Given the description of an element on the screen output the (x, y) to click on. 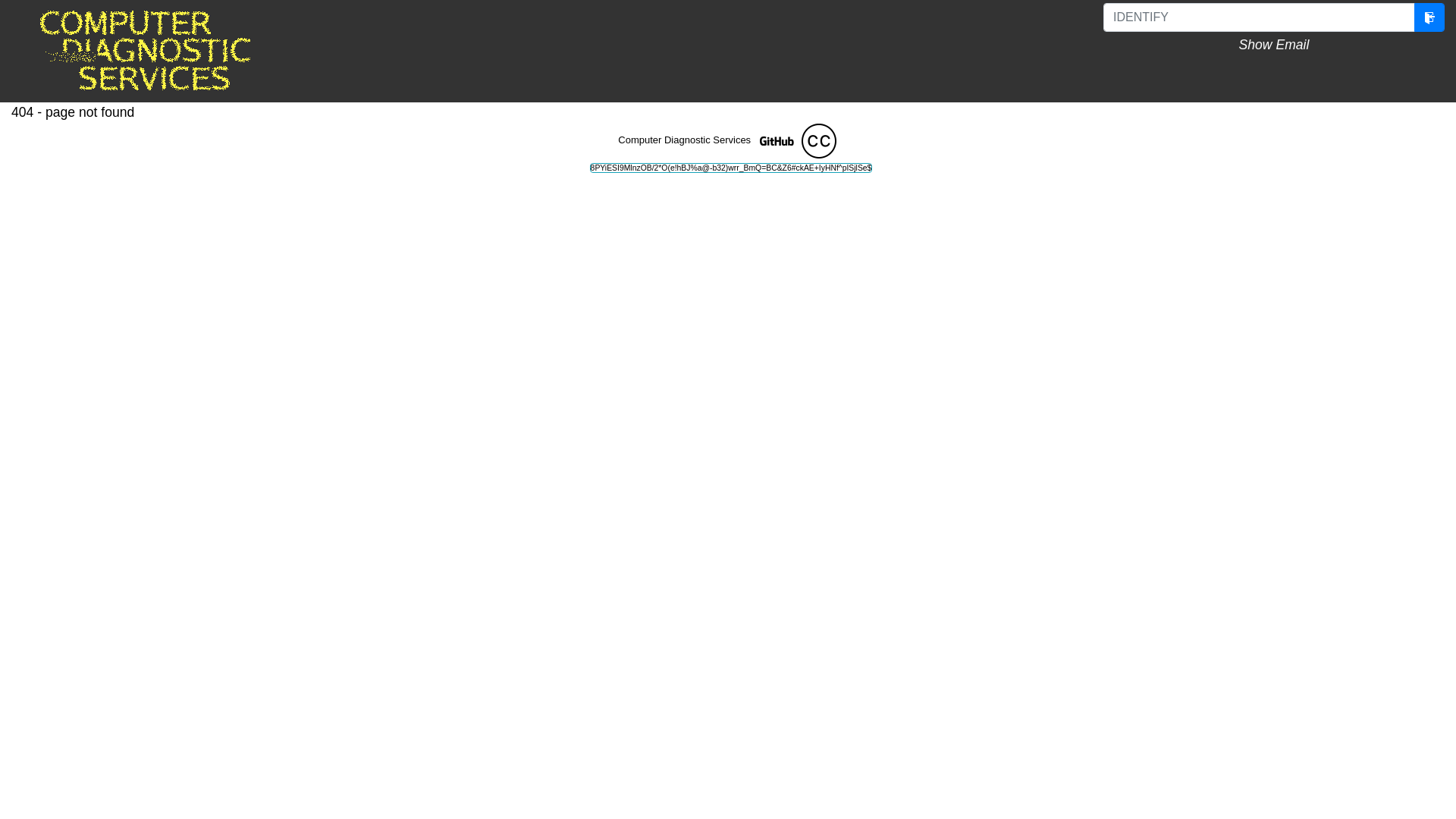
GitHub Octicons Element type: hover (776, 140)
Creative Commons Element type: hover (818, 141)
sign-in Created with Sketch. Element type: text (1429, 17)
Computer Diagnostic Services Element type: hover (170, 51)
